Given the description of an element on the screen output the (x, y) to click on. 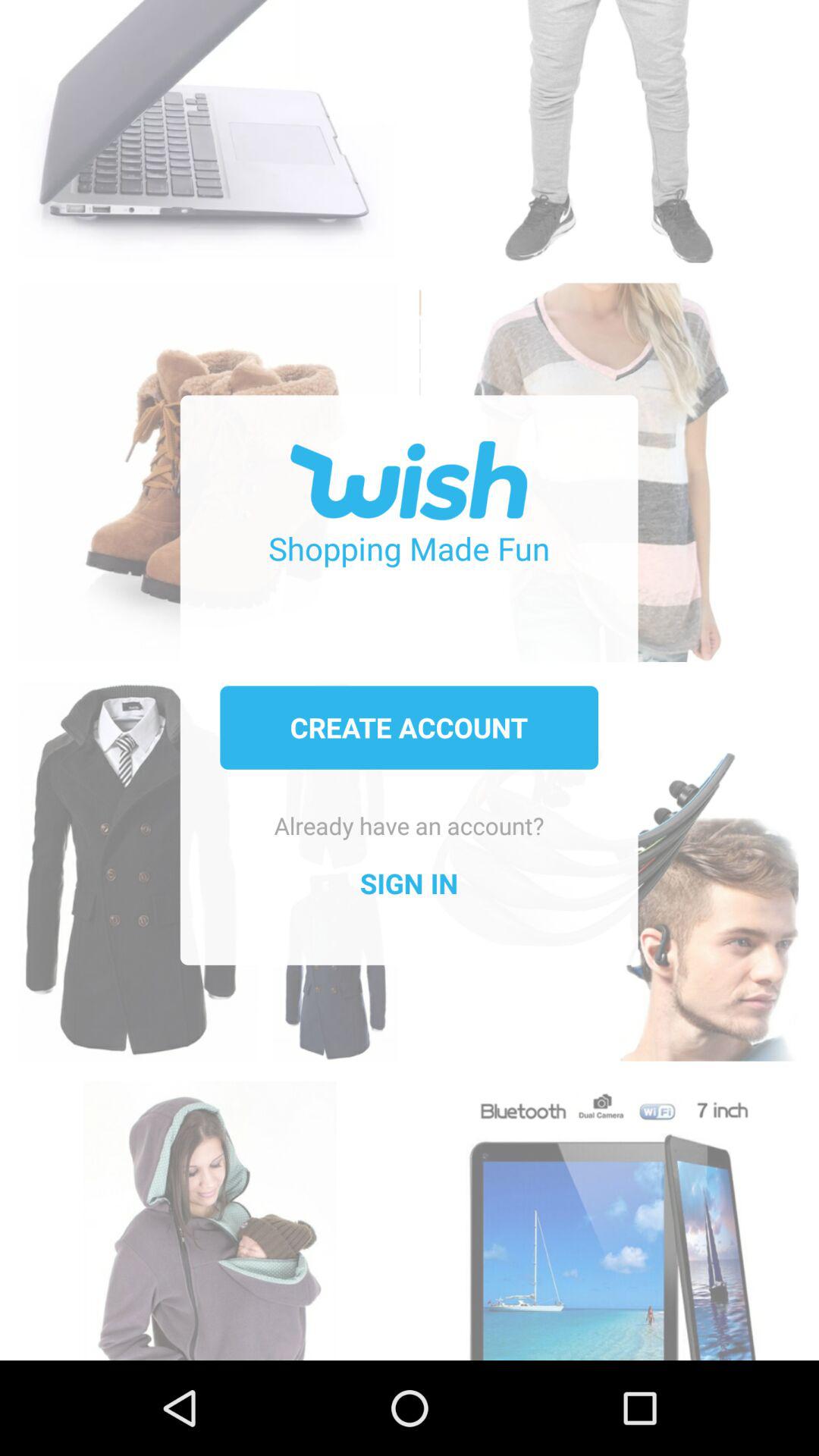
view men 's pants (608, 123)
